Given the description of an element on the screen output the (x, y) to click on. 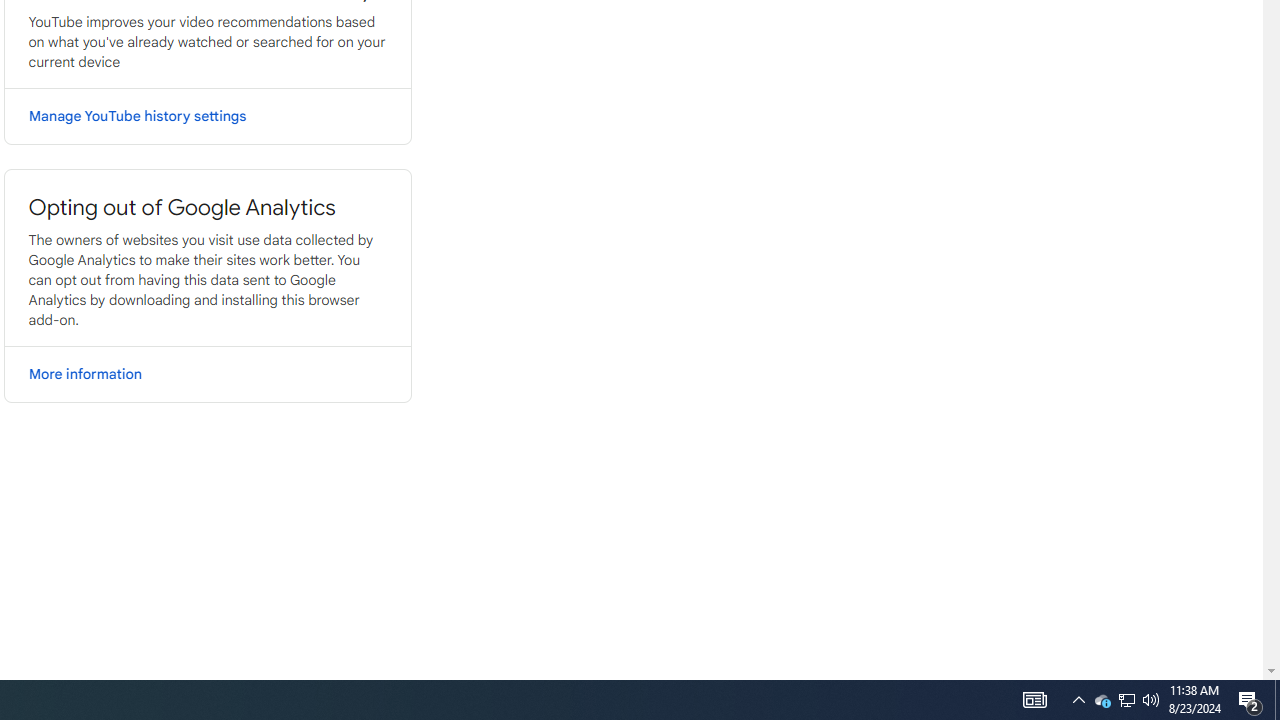
More information (206, 374)
Manage YouTube history settings (206, 116)
